Given the description of an element on the screen output the (x, y) to click on. 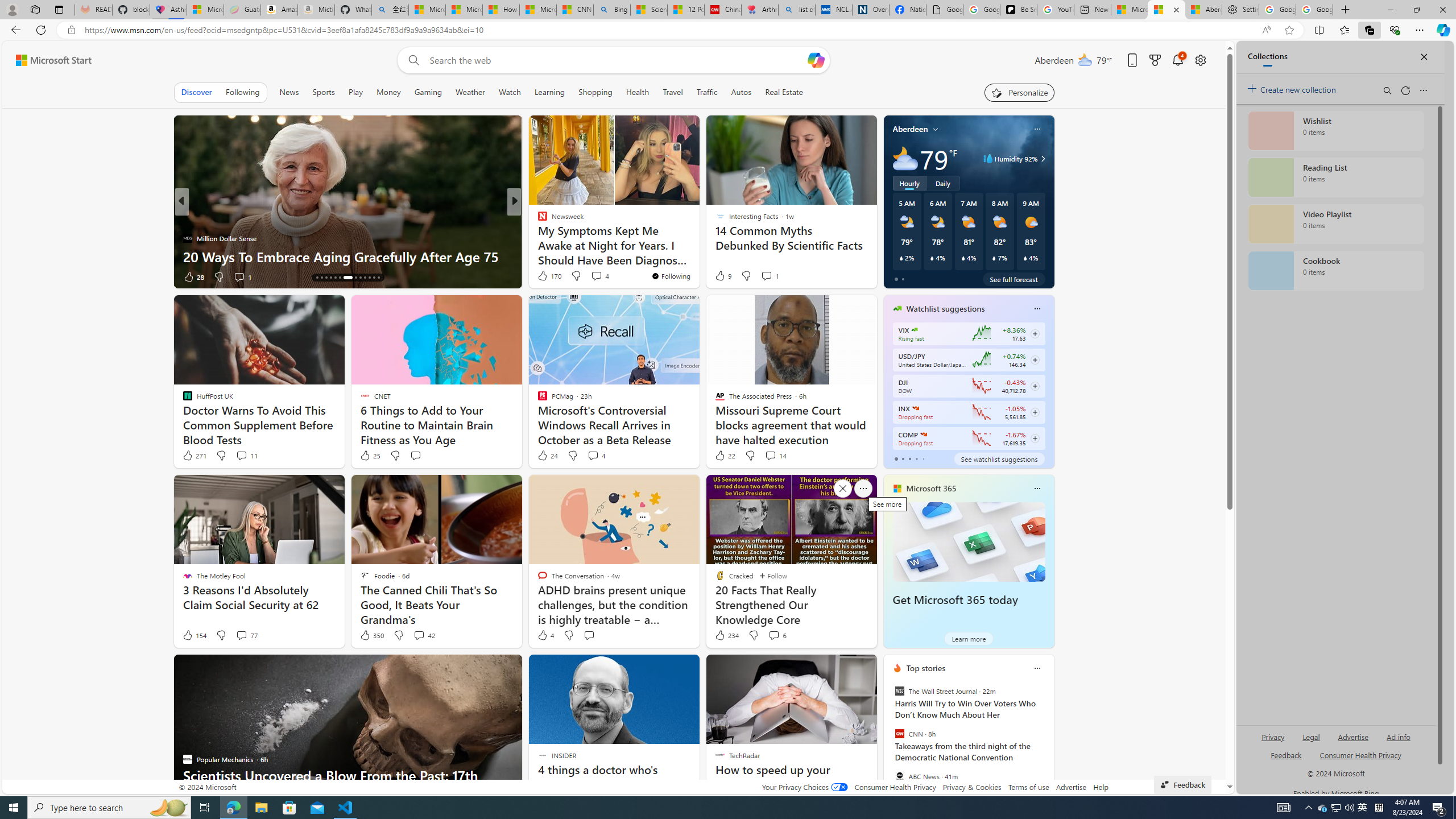
AutomationID: tab-21 (352, 277)
See full forecast (1013, 278)
404 Like (545, 276)
Google Analytics Opt-out Browser Add-on Download Page (944, 9)
View comments 5 Comment (589, 276)
